Given the description of an element on the screen output the (x, y) to click on. 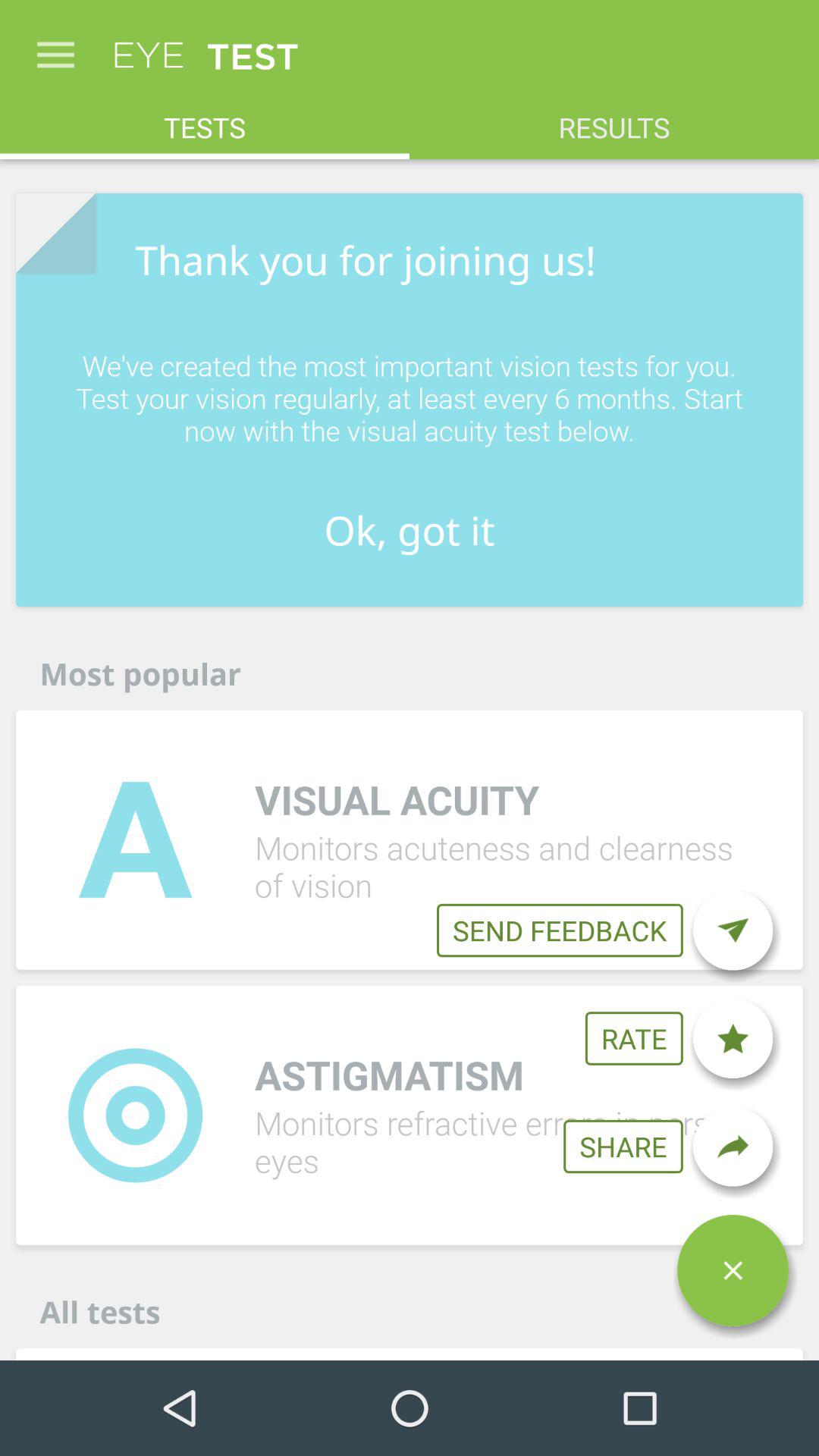
click icon next to eye icon (55, 47)
